Given the description of an element on the screen output the (x, y) to click on. 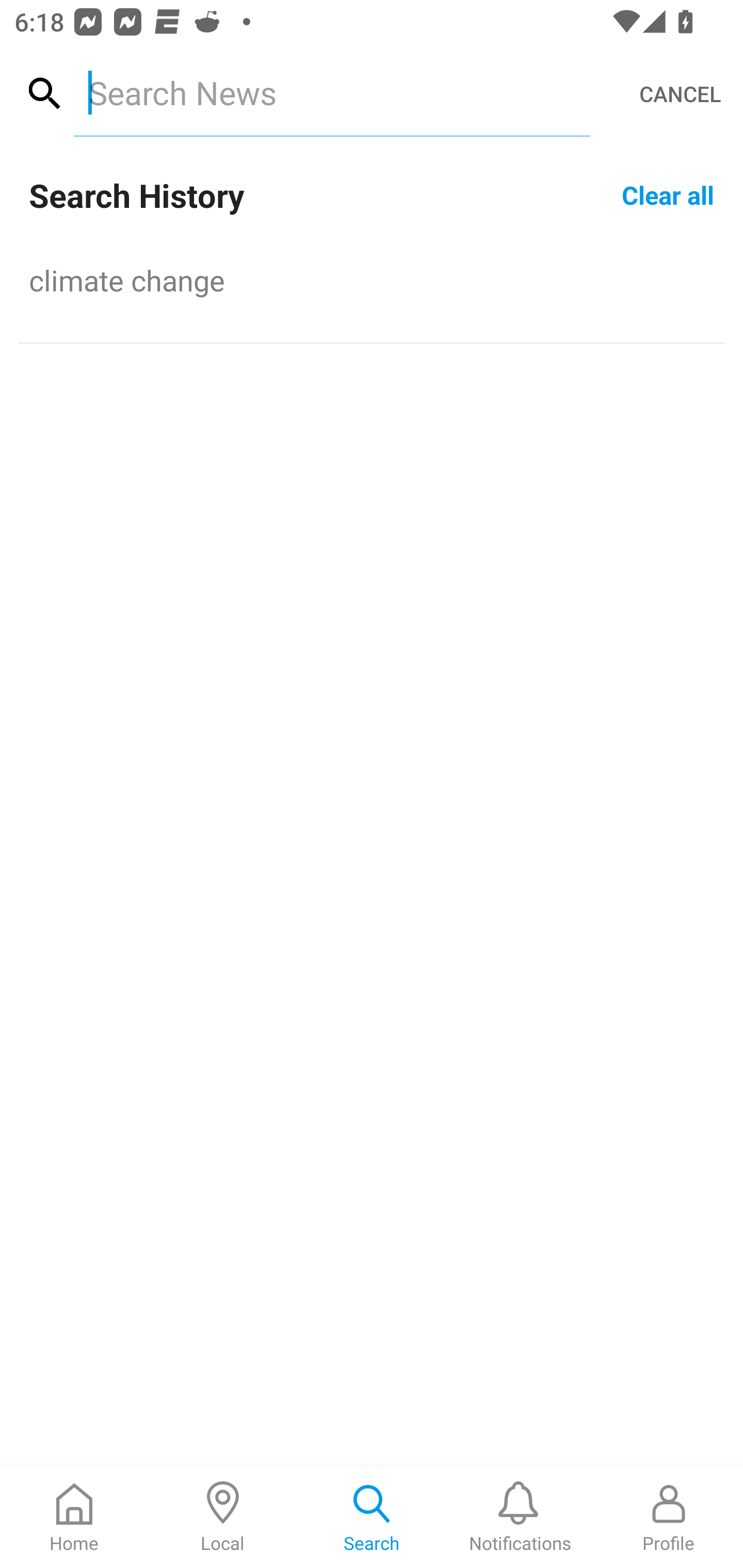
CANCEL (680, 93)
Search News (331, 92)
Clear all (667, 194)
climate change (371, 279)
Home (74, 1517)
Local (222, 1517)
Notifications (519, 1517)
Profile (668, 1517)
